Given the description of an element on the screen output the (x, y) to click on. 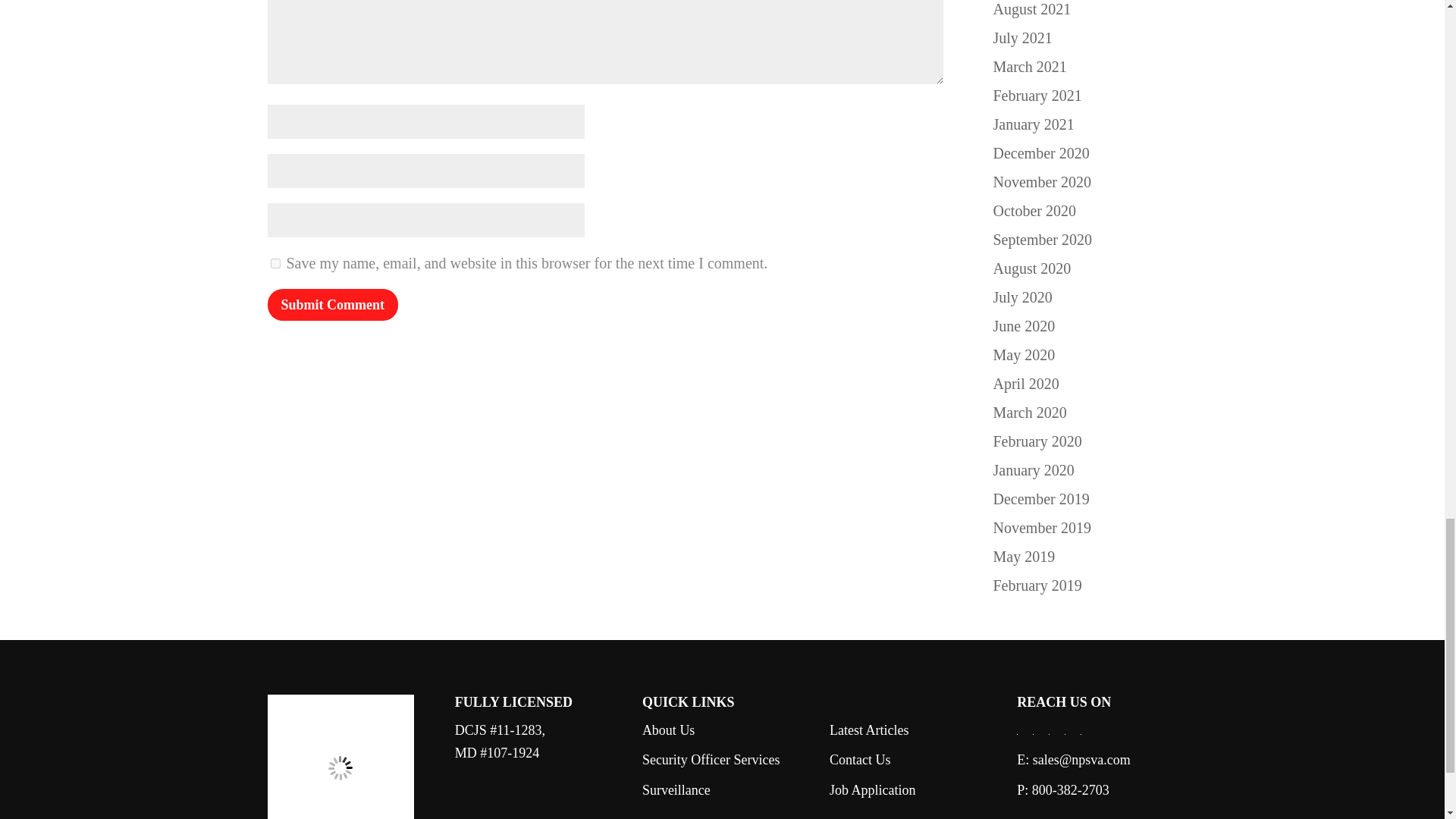
Submit Comment (331, 304)
Submit Comment (331, 304)
yes (274, 263)
